Given the description of an element on the screen output the (x, y) to click on. 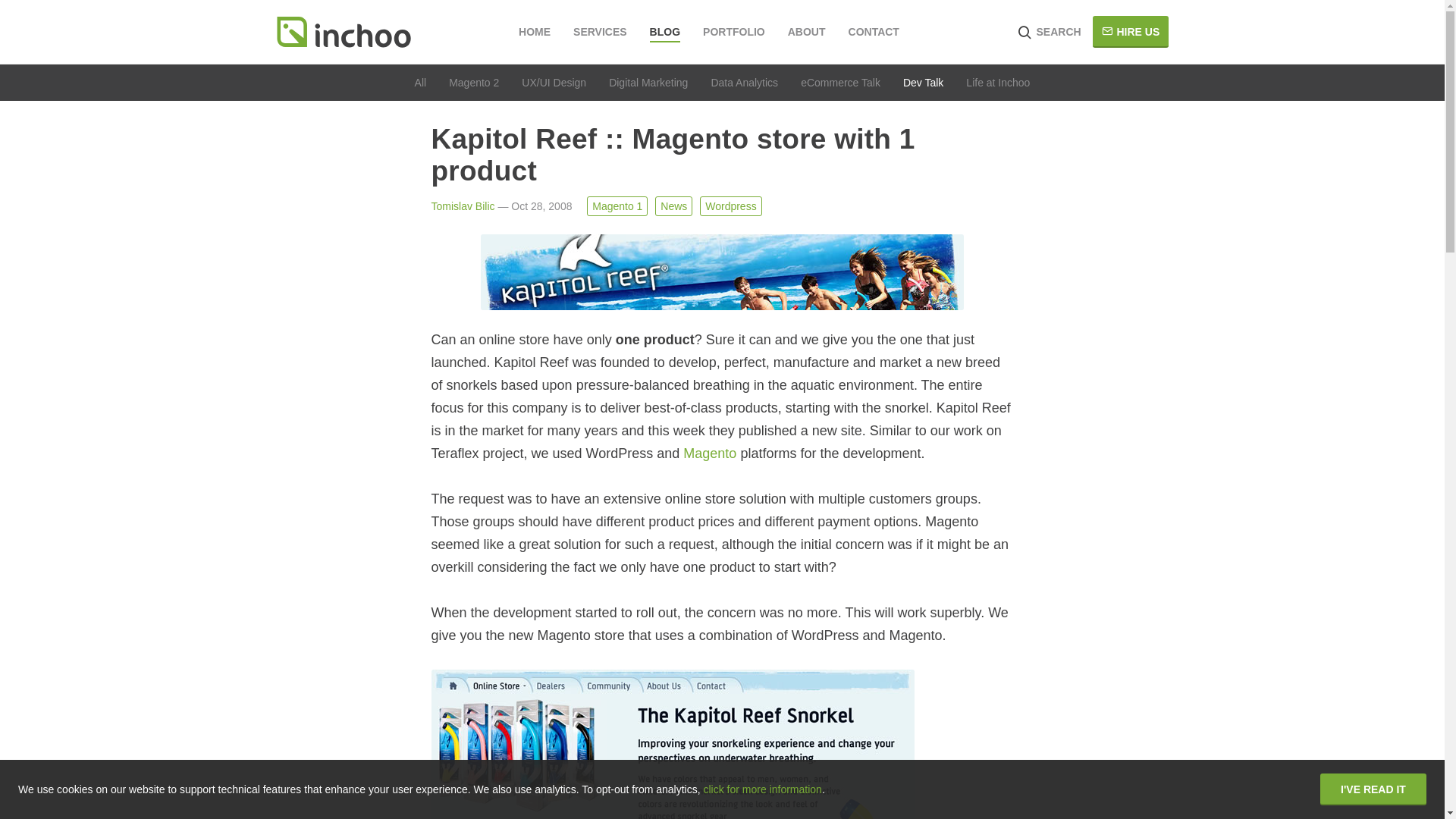
News (674, 206)
Wordpress (730, 206)
eCommerce Talk (840, 82)
Digital Marketing (647, 82)
HOME (534, 31)
ABOUT (806, 31)
News at Inchoo (997, 82)
Data Analytics (743, 82)
Inchoo (343, 31)
CONTACT (873, 31)
